Given the description of an element on the screen output the (x, y) to click on. 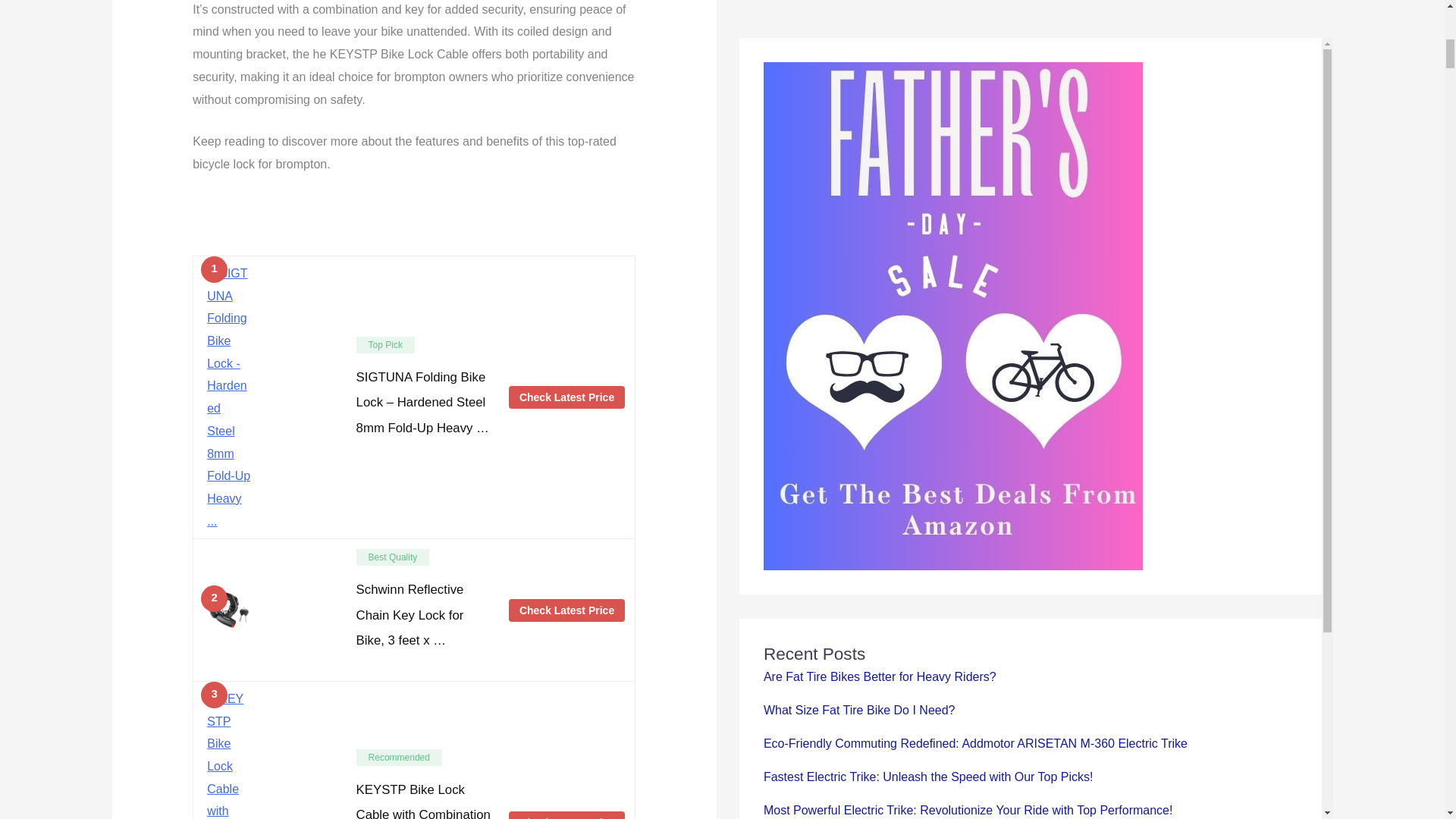
Check Latest Price (566, 815)
Check Latest Price (566, 396)
Check Latest Price (566, 609)
